Given the description of an element on the screen output the (x, y) to click on. 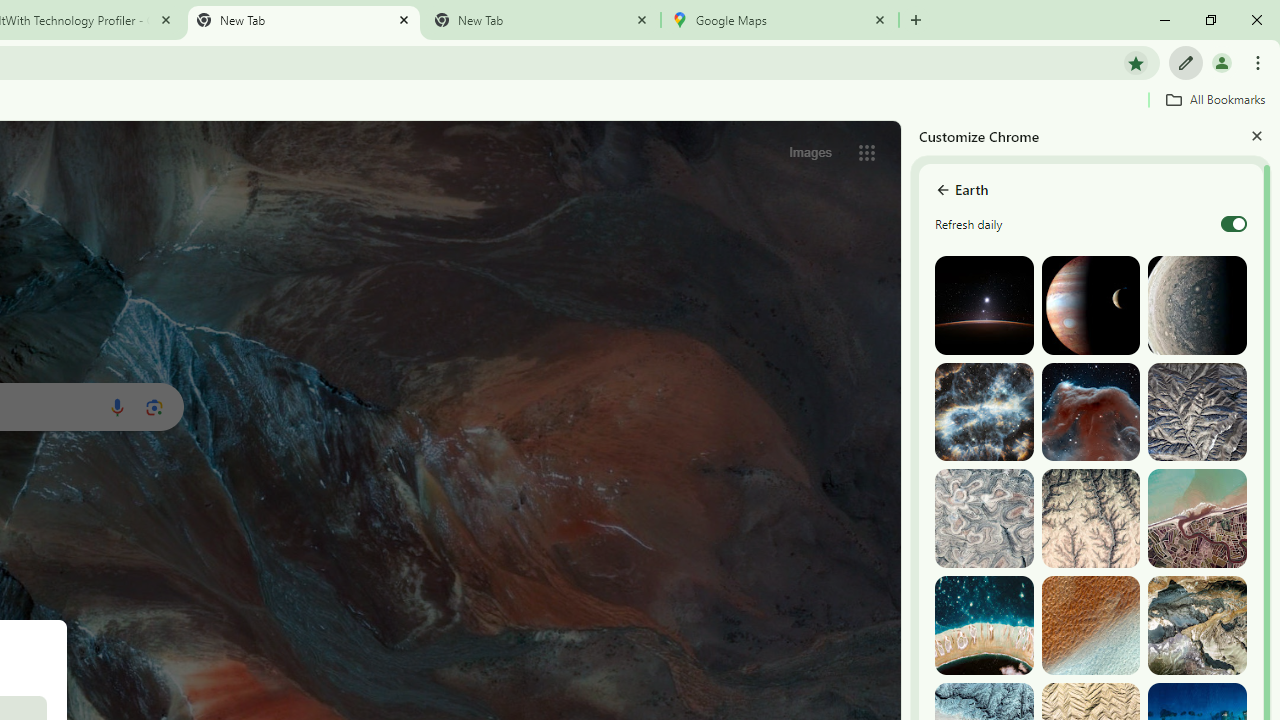
Minimize (1165, 20)
Trarza, Mauritania (1090, 625)
Nanggroe Aceh Darussalam, Indonesia (1197, 518)
Chrome (1260, 62)
Kelan, Shanxi, China (1197, 412)
The Tuamotu and Gambier Islands, French Polynesia (984, 625)
Restore (1210, 20)
Refresh daily (1233, 223)
Close (1256, 135)
Customize Chrome (1185, 62)
Bookmark this tab (1135, 62)
Sanaag, Somalia (1090, 518)
Google Maps (779, 20)
You (1221, 62)
New Tab (916, 20)
